Given the description of an element on the screen output the (x, y) to click on. 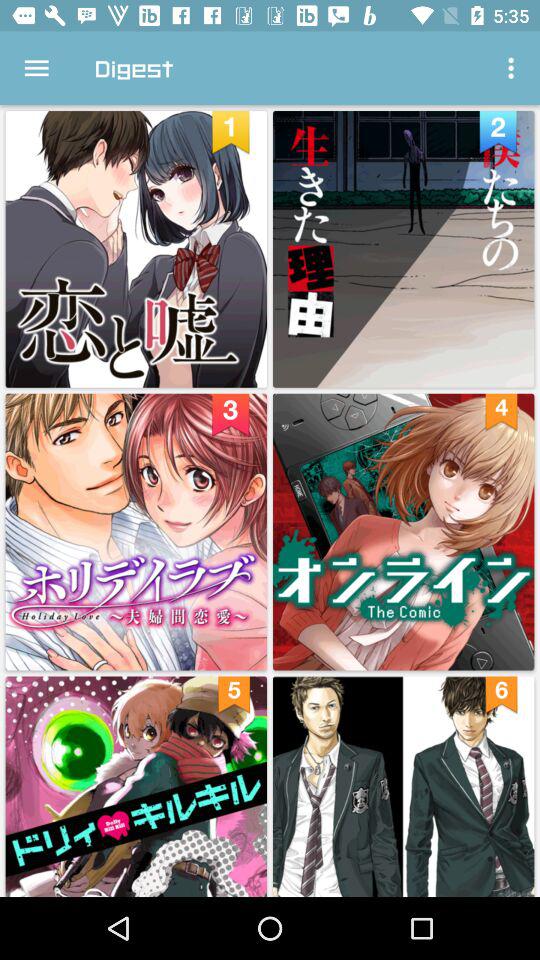
choose icon to the right of digest (513, 67)
